Given the description of an element on the screen output the (x, y) to click on. 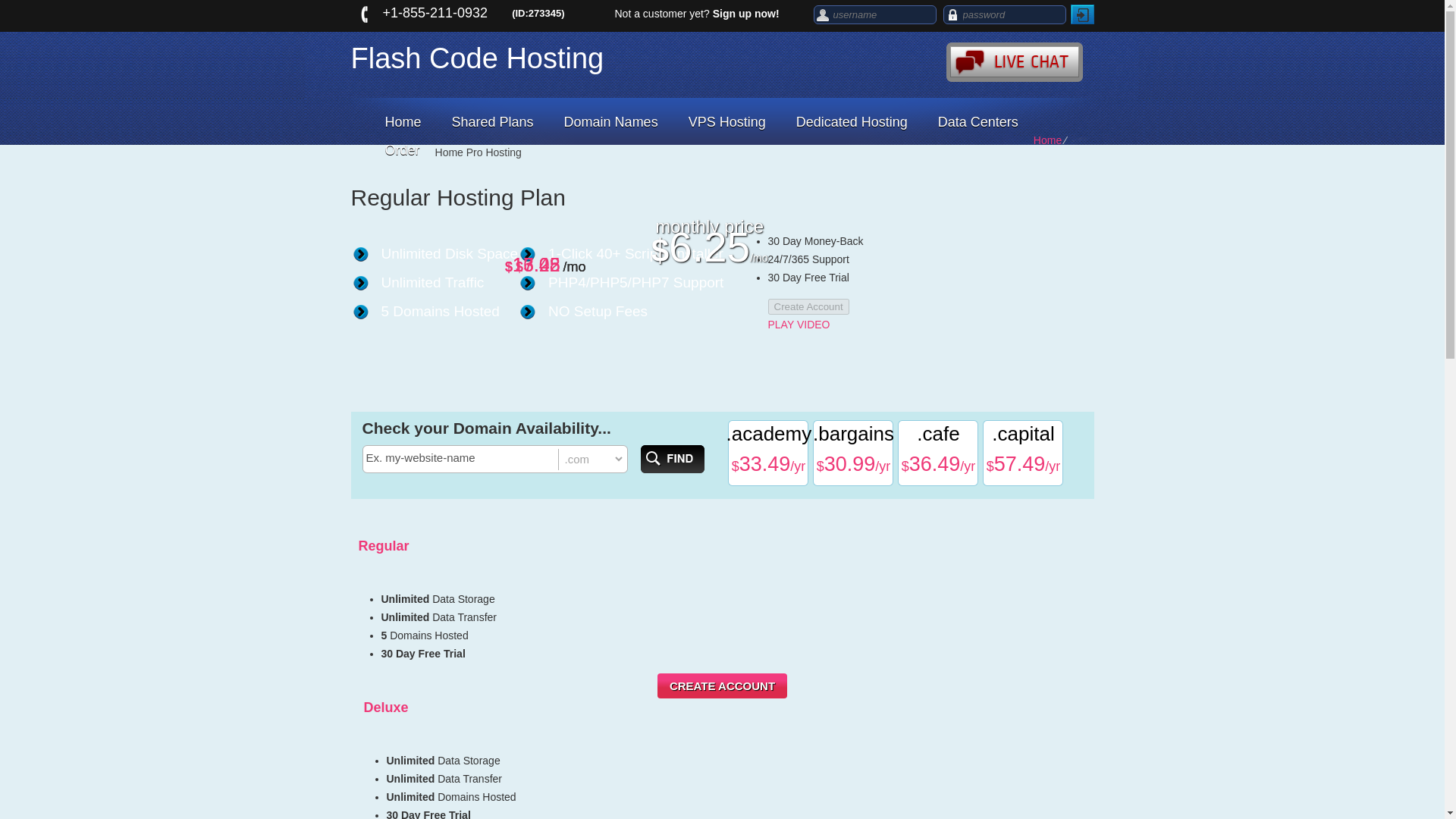
Domain Names (610, 122)
Regular (383, 545)
Home (1047, 140)
Order (402, 150)
sign up (745, 13)
Data Centers (978, 122)
Sign up now! (745, 13)
Ex. my-website-name (461, 458)
Dedicated Hosting (852, 122)
Shared Plans (492, 122)
Create Account (807, 306)
CREATE ACCOUNT (722, 685)
Home (403, 122)
